Given the description of an element on the screen output the (x, y) to click on. 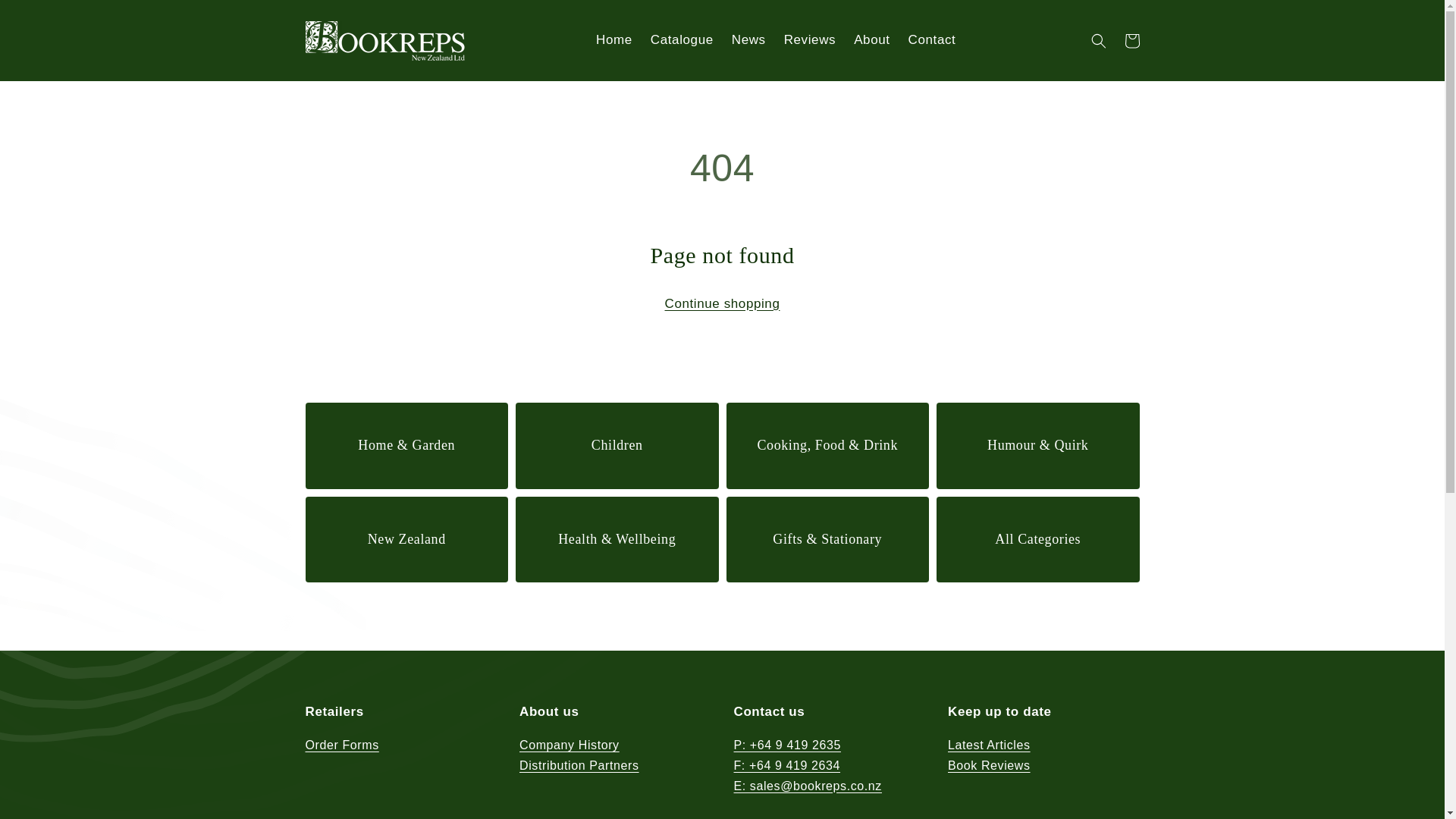
Skip to content (45, 20)
Cart (1131, 40)
News (748, 39)
Distribution Partners (579, 765)
Continue shopping (720, 304)
Order Forms (341, 747)
All Categories (1038, 539)
Home (614, 39)
New Zealand (406, 539)
About (871, 39)
Catalogue (682, 39)
Reviews (809, 39)
Company History (569, 747)
Contact (932, 39)
Children (617, 445)
